Given the description of an element on the screen output the (x, y) to click on. 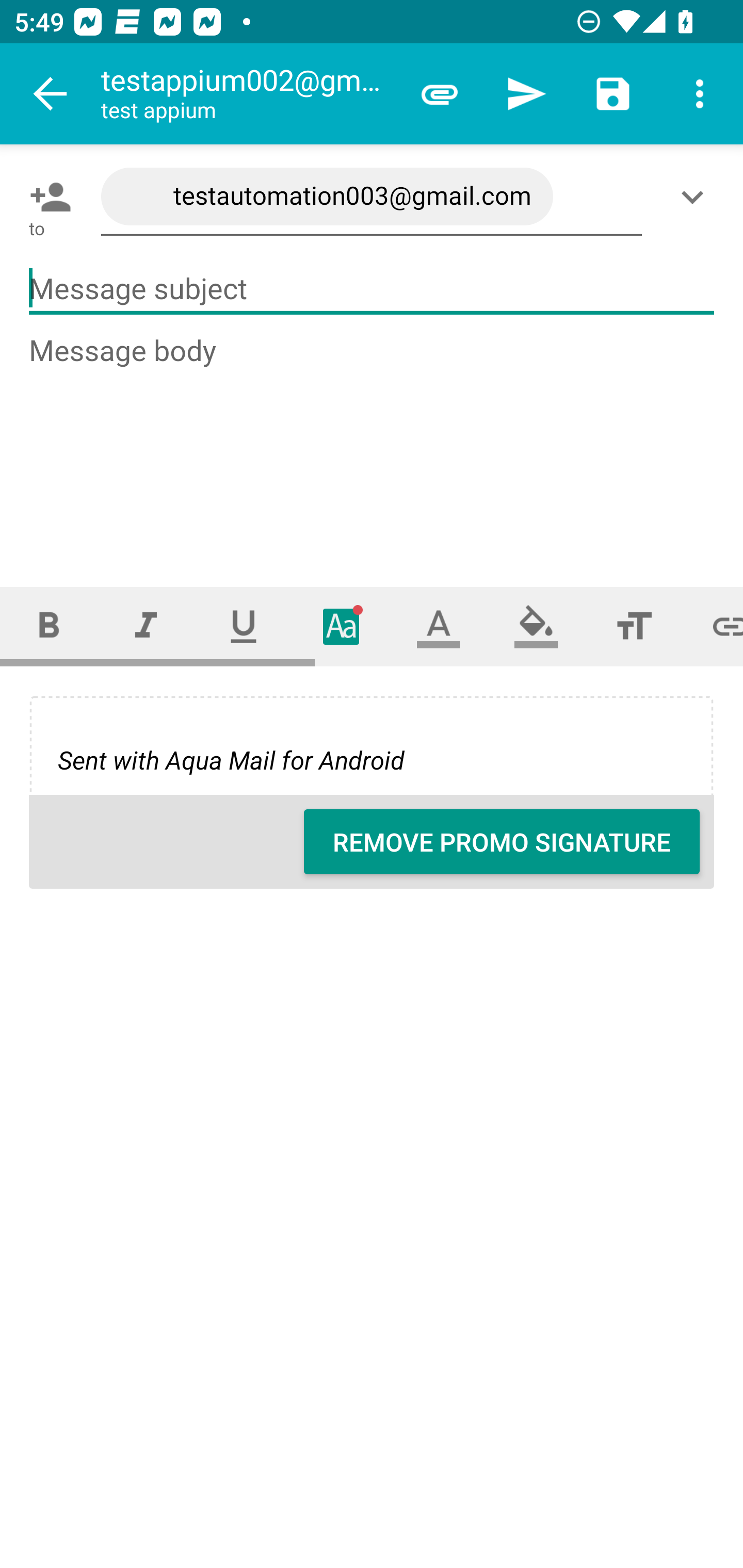
Navigate up (50, 93)
testappium002@gmail.com test appium (248, 93)
Attach (439, 93)
Send (525, 93)
Save (612, 93)
More options (699, 93)
testautomation003@gmail.com,  (371, 197)
Pick contact: To (46, 196)
Show/Add CC/BCC (696, 196)
Message subject (371, 288)
Message body (372, 442)
Bold (48, 626)
Italic (145, 626)
Underline (243, 626)
Typeface (font) (341, 626)
Text color (438, 626)
Fill color (536, 626)
Font size (633, 626)
Set link (712, 626)
REMOVE PROMO SIGNATURE (501, 841)
